Given the description of an element on the screen output the (x, y) to click on. 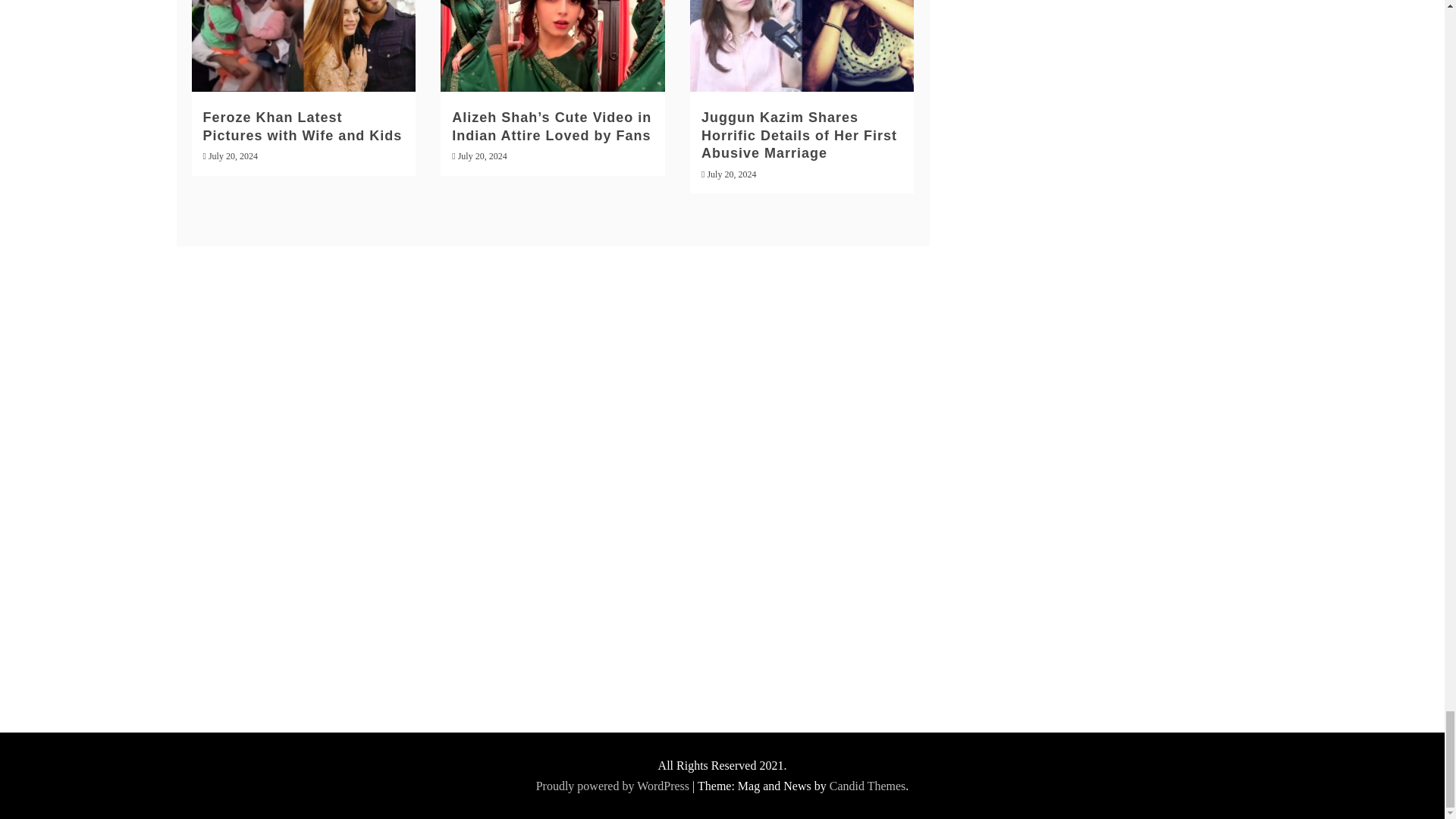
Feroze Khan Latest Pictures with Wife and Kids (303, 125)
July 20, 2024 (482, 155)
July 20, 2024 (232, 155)
July 20, 2024 (730, 173)
